Given the description of an element on the screen output the (x, y) to click on. 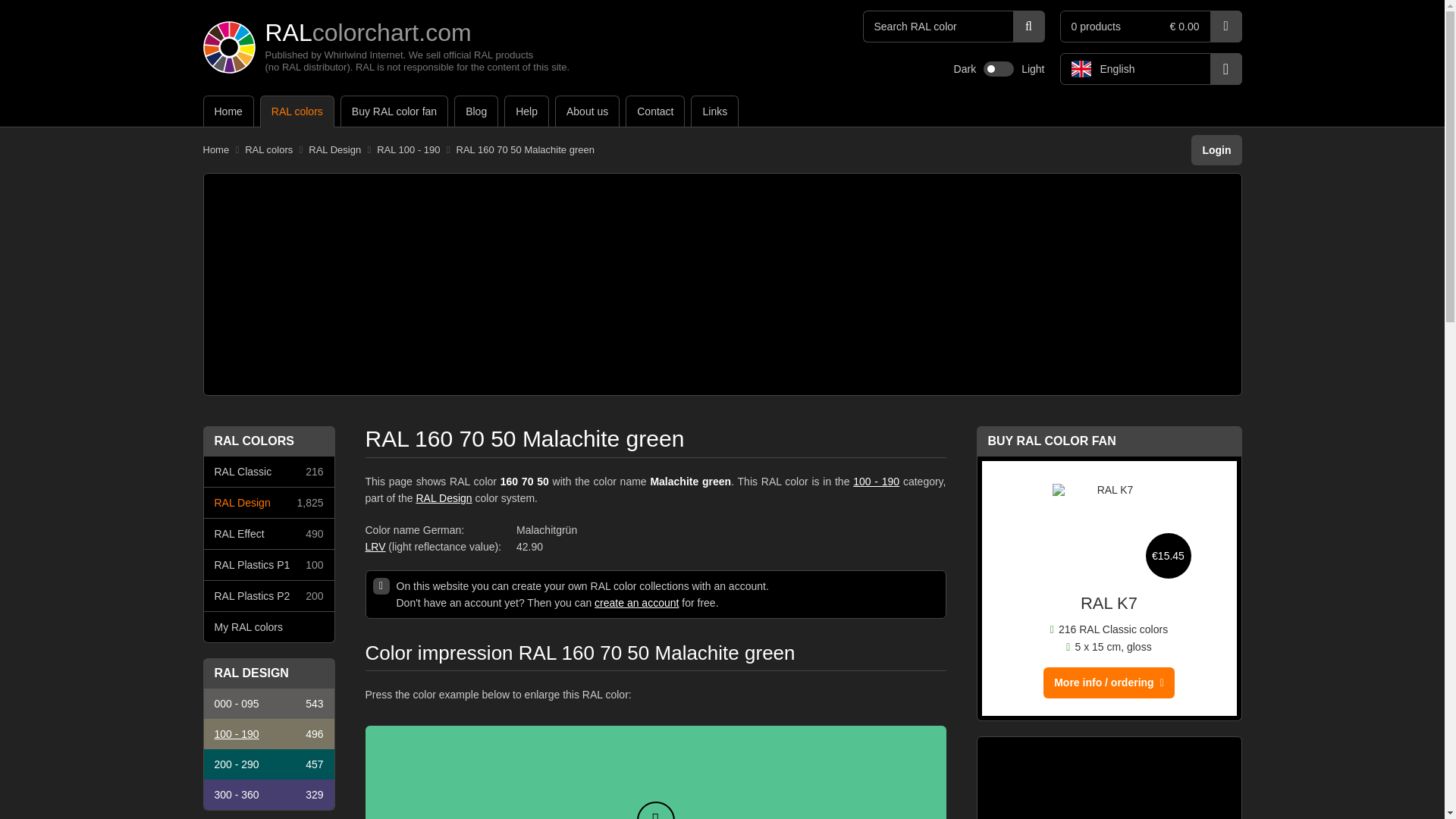
Blog (475, 111)
Buy RAL color fan (394, 111)
Home (228, 111)
English (1150, 69)
RAL 100 - 190 (408, 150)
RAL 160 70 50 Malachite green (525, 150)
Search (1029, 26)
Light (1032, 69)
Help (525, 111)
Contact (655, 111)
English (1150, 69)
Dark (964, 69)
Dark (964, 69)
RAL Design (334, 150)
RAL colors (297, 111)
